Given the description of an element on the screen output the (x, y) to click on. 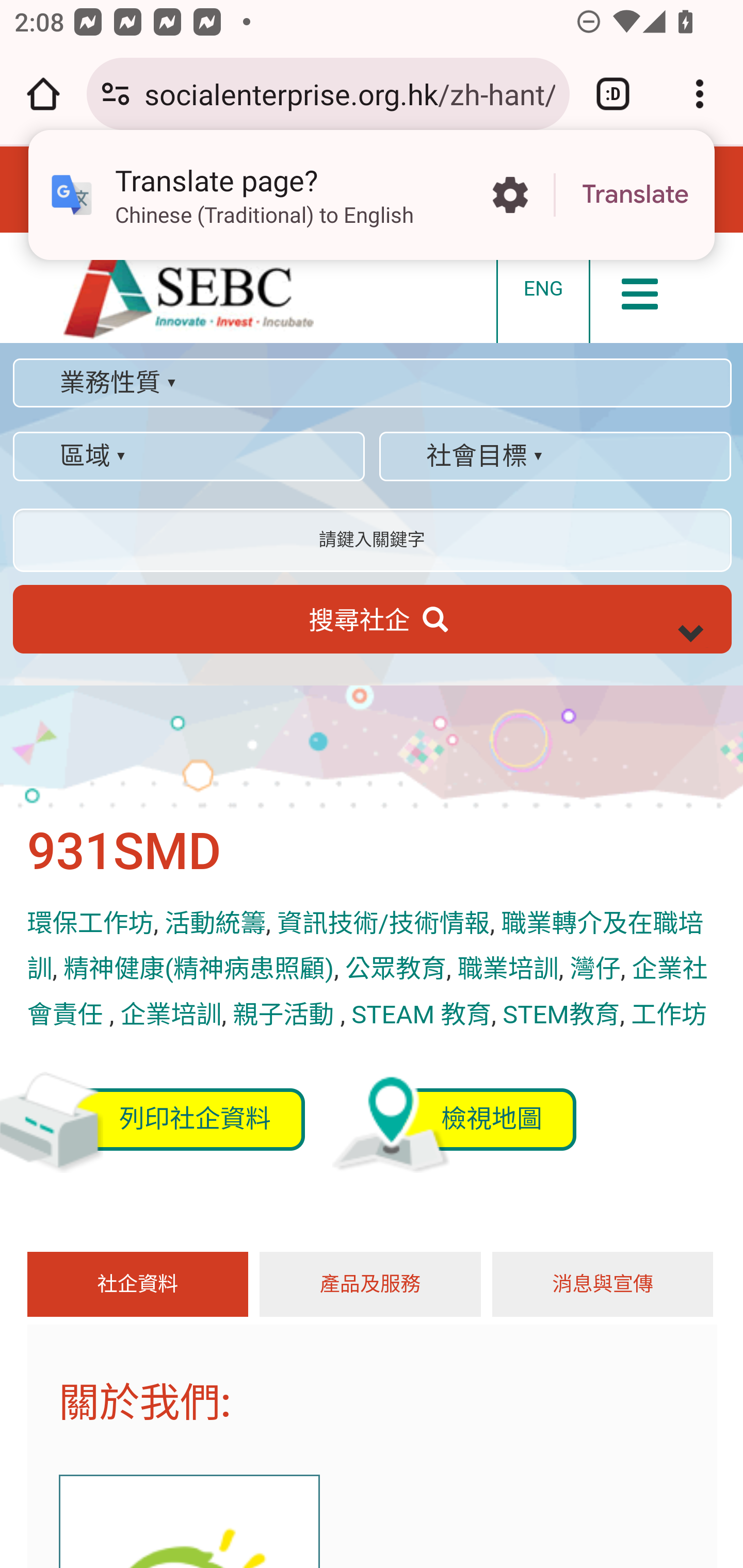
Open the home page (43, 93)
Connection is secure (115, 93)
Switch or close tabs (612, 93)
Customize and control Google Chrome (699, 93)
Translate (634, 195)
More options in the Translate page? (509, 195)
ENG (541, 288)
Toggle navigation (639, 286)
首頁 (188, 295)
業務性質 ▾   (372, 382)
區域 ▾   (188, 456)
社會目標 ▾   (555, 456)
搜尋社企 (372, 618)
wDwy5CLYRES-5Mn_nm-1cg# (693, 637)
環保工作坊 (90, 923)
職業轉介及在職培訓 (364, 946)
活動統籌 (215, 923)
資訊技術/技術情報 (383, 923)
企業社會責任  (367, 991)
精神健康(精神病患照顧) (199, 969)
公眾教育 (395, 969)
職業培訓 (507, 969)
灣仔 (594, 969)
企業培訓 (170, 1014)
親子活動  (286, 1014)
STEAM 教育 (421, 1014)
STEM教育 (561, 1014)
工作坊 (669, 1014)
列印社企資料 (164, 1119)
檢視地圖 (488, 1119)
社企資料 (136, 1284)
產品及服務 (369, 1284)
消息與宣傳 (602, 1284)
